Given the description of an element on the screen output the (x, y) to click on. 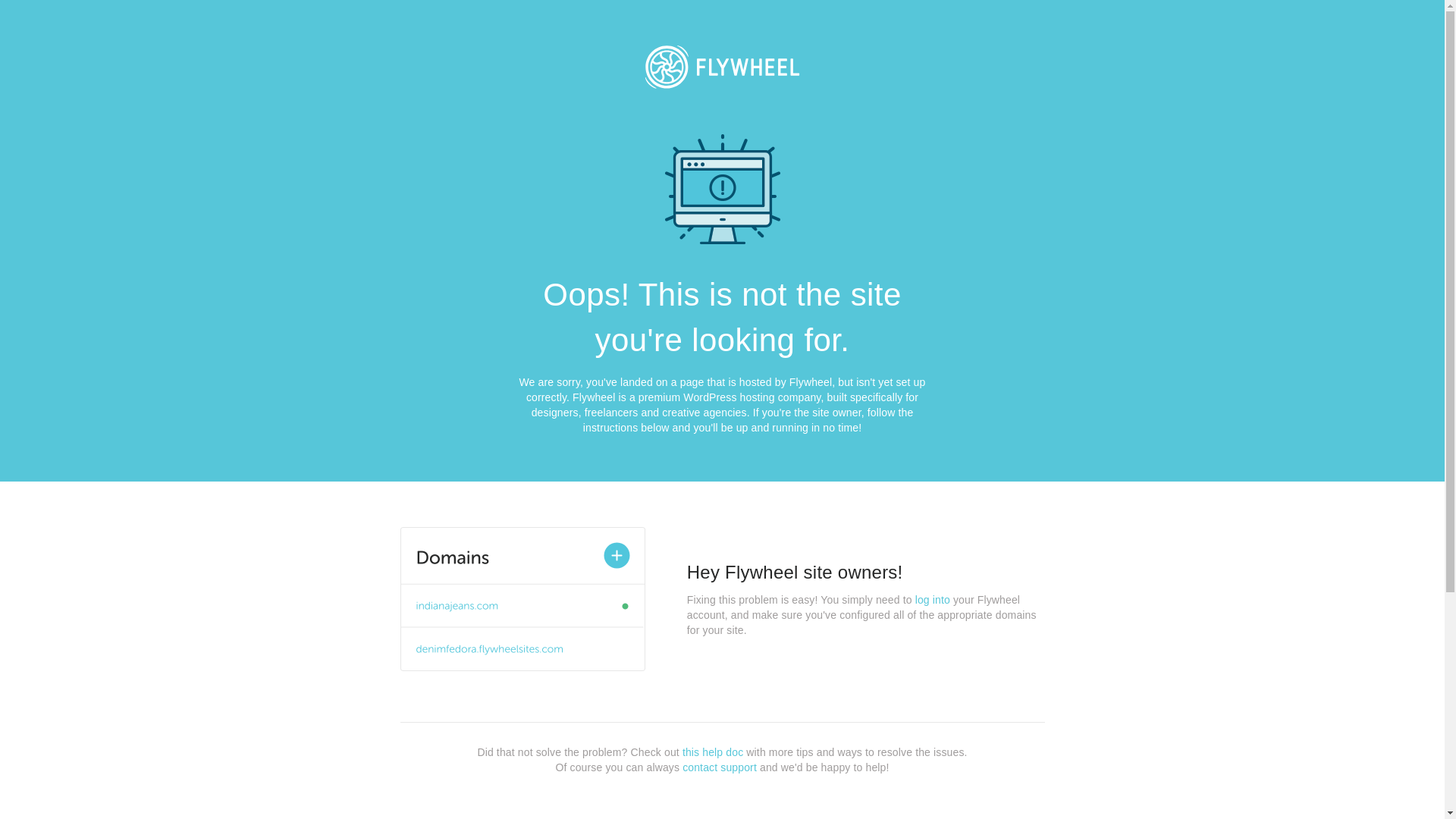
contact support Element type: text (719, 767)
log into Element type: text (932, 599)
this help doc Element type: text (712, 752)
